Given the description of an element on the screen output the (x, y) to click on. 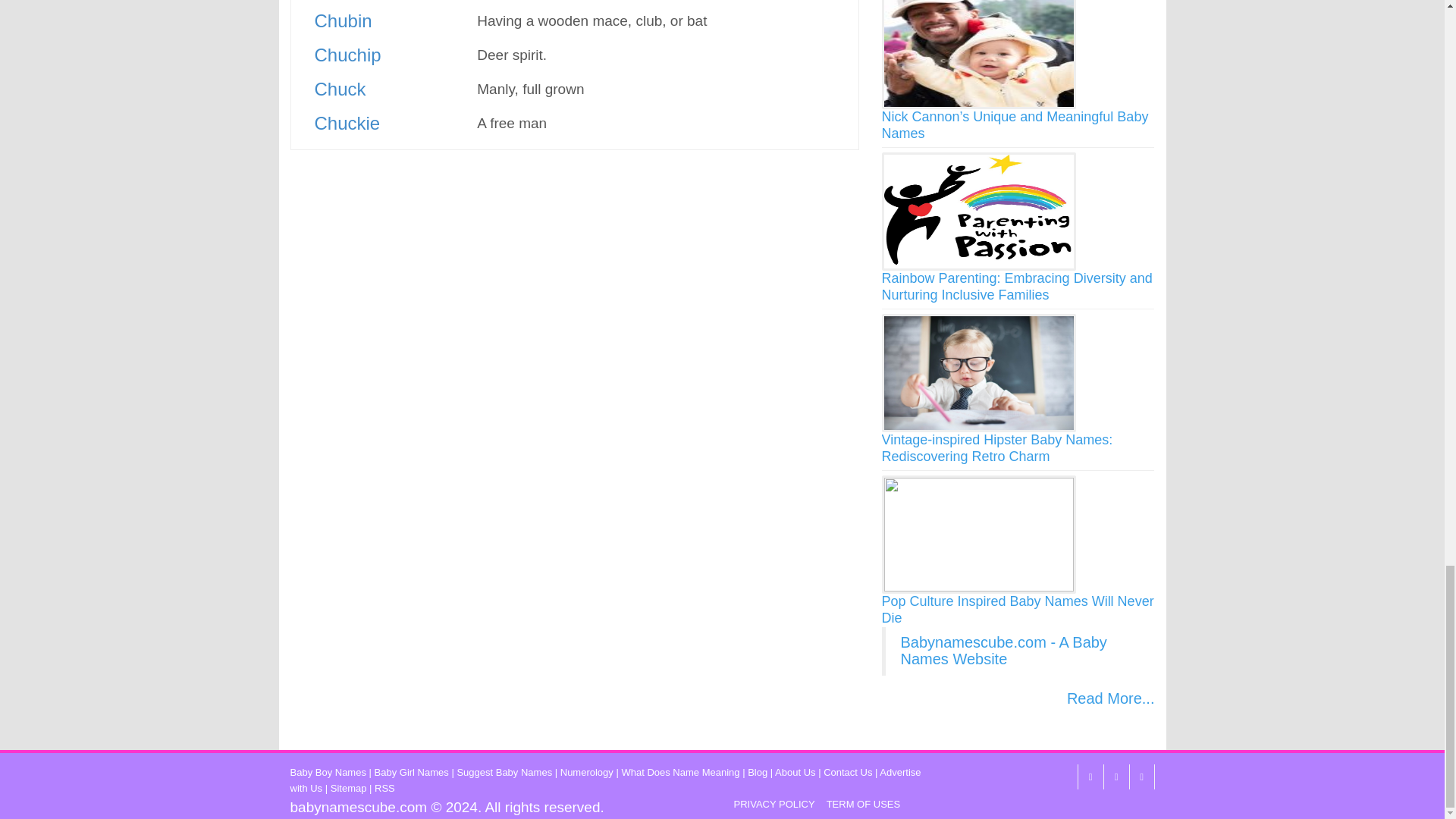
Facebook (1089, 776)
Google Plus (1141, 776)
Twitter (1115, 776)
